Given the description of an element on the screen output the (x, y) to click on. 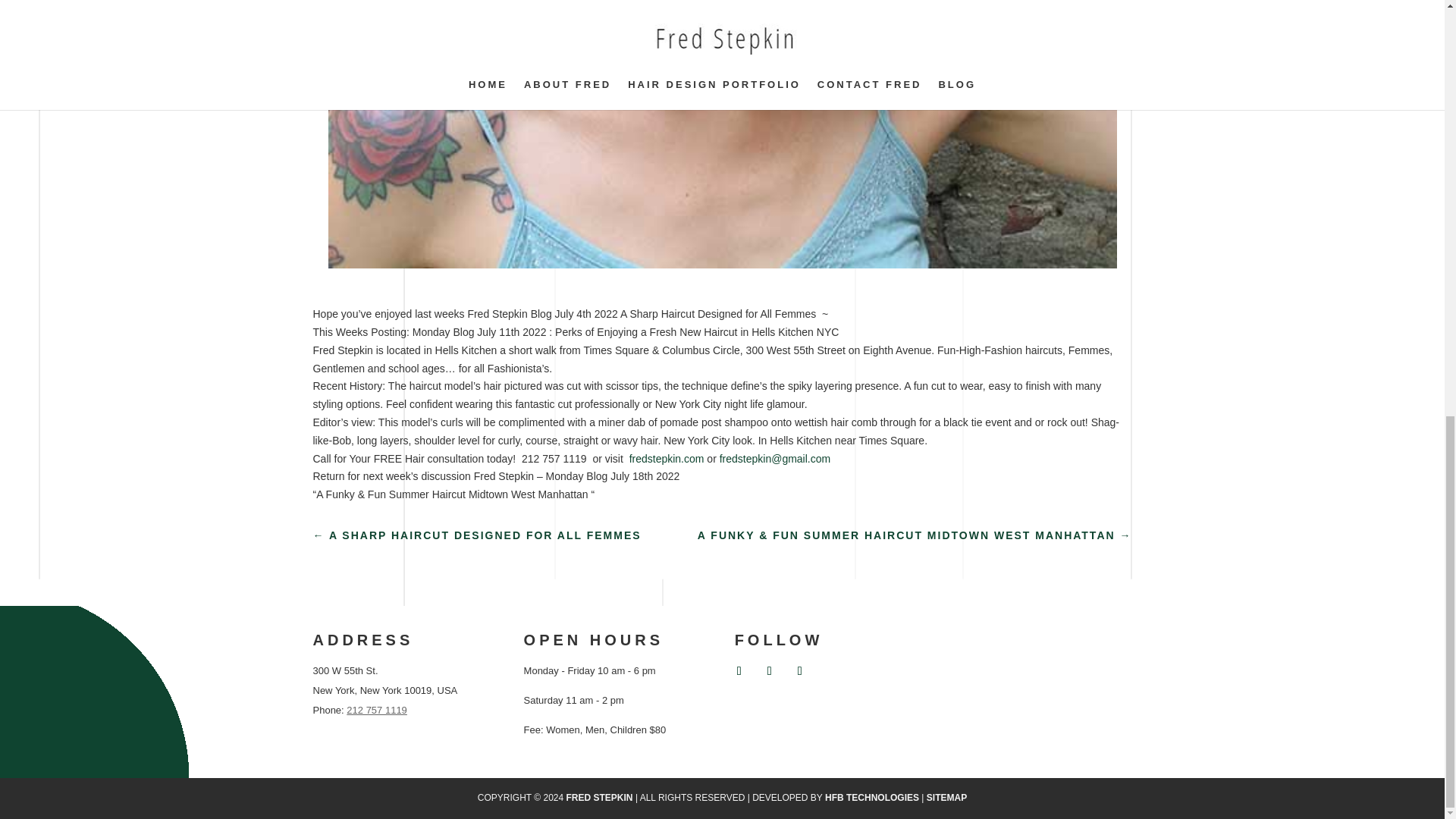
Follow on Pinterest (769, 671)
212 757 1119 (376, 709)
HFB TECHNOLOGIES (871, 797)
fredstepkin.com (666, 458)
Follow on Facebook (738, 671)
Follow on Instagram (799, 671)
SITEMAP (946, 797)
